Given the description of an element on the screen output the (x, y) to click on. 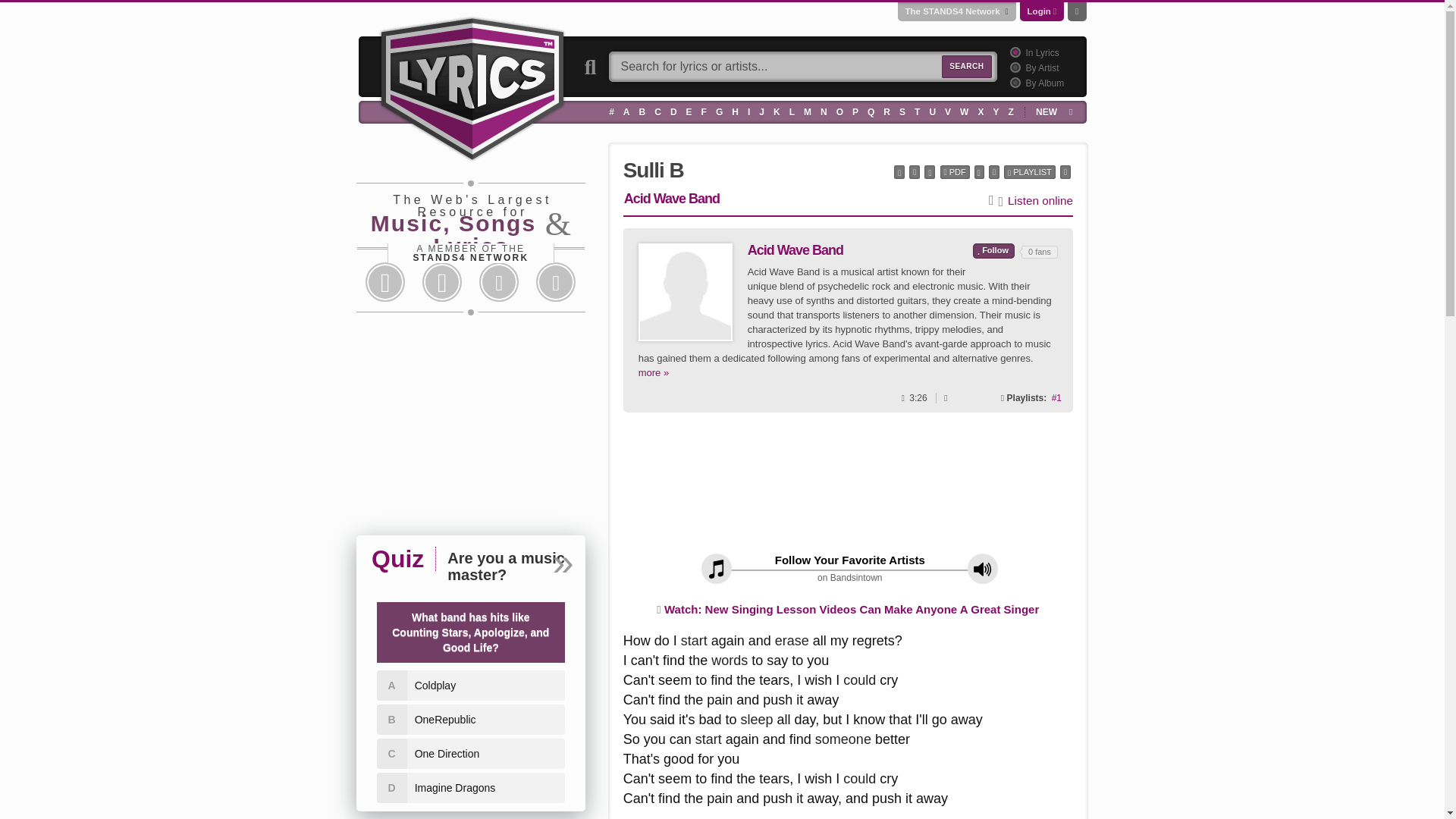
3 (1013, 81)
SEARCH (966, 66)
Login (1039, 10)
click to add Sulli B to your playlist (1029, 172)
Listen to this song on Amazon (1040, 200)
See all fans for this song (1056, 398)
Acid Wave Band (685, 291)
click to down the Sulli B lyrics as PDF (954, 172)
2 (1013, 67)
Lyrics.com (471, 86)
